Given the description of an element on the screen output the (x, y) to click on. 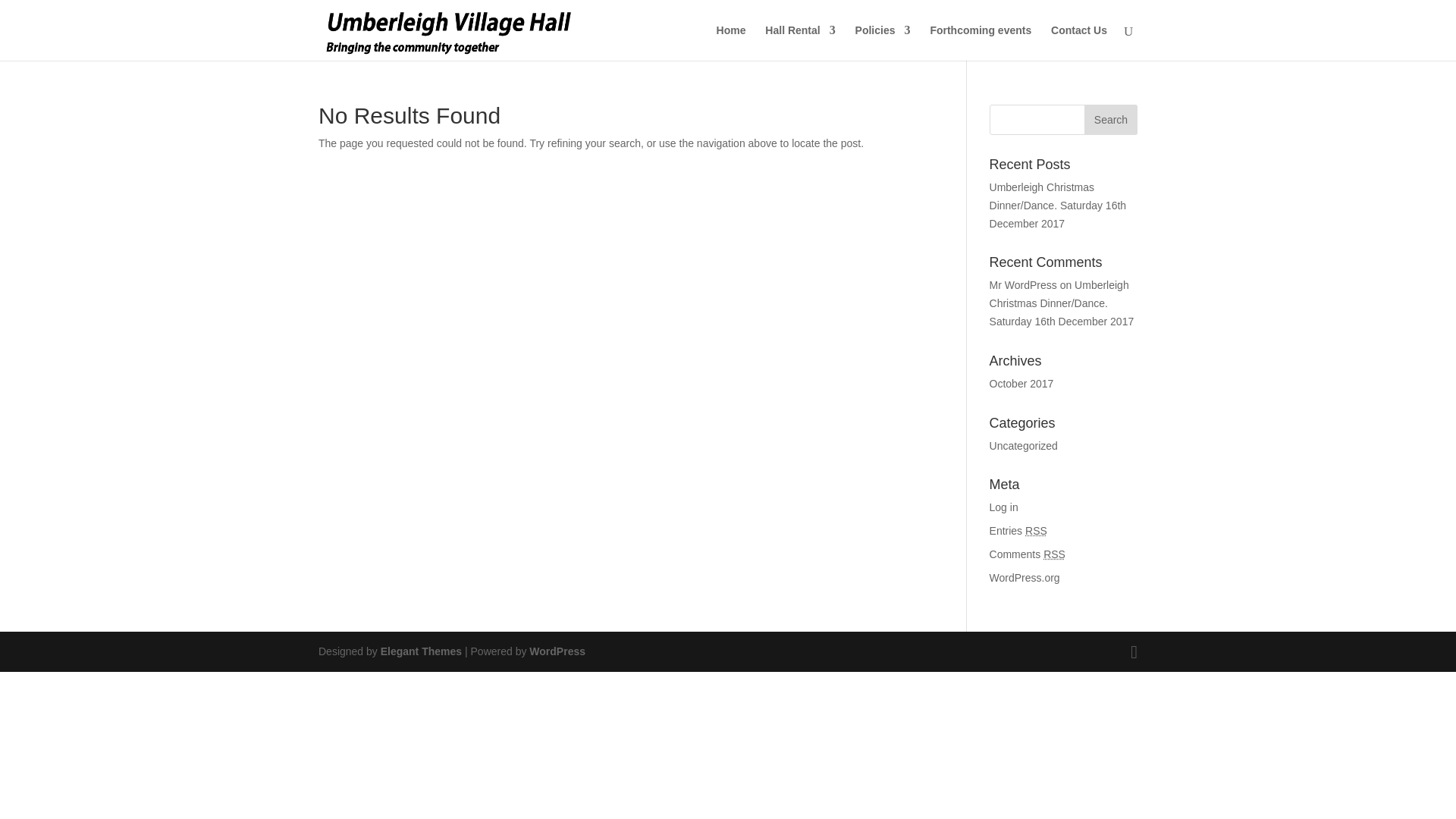
Log in (1003, 507)
Mr WordPress (1023, 285)
October 2017 (1022, 383)
Premium WordPress Themes (420, 651)
Forthcoming events (980, 42)
Really Simple Syndication (1035, 530)
Search (1110, 119)
Policies (883, 42)
Hall Rental (799, 42)
Search (1110, 119)
